Given the description of an element on the screen output the (x, y) to click on. 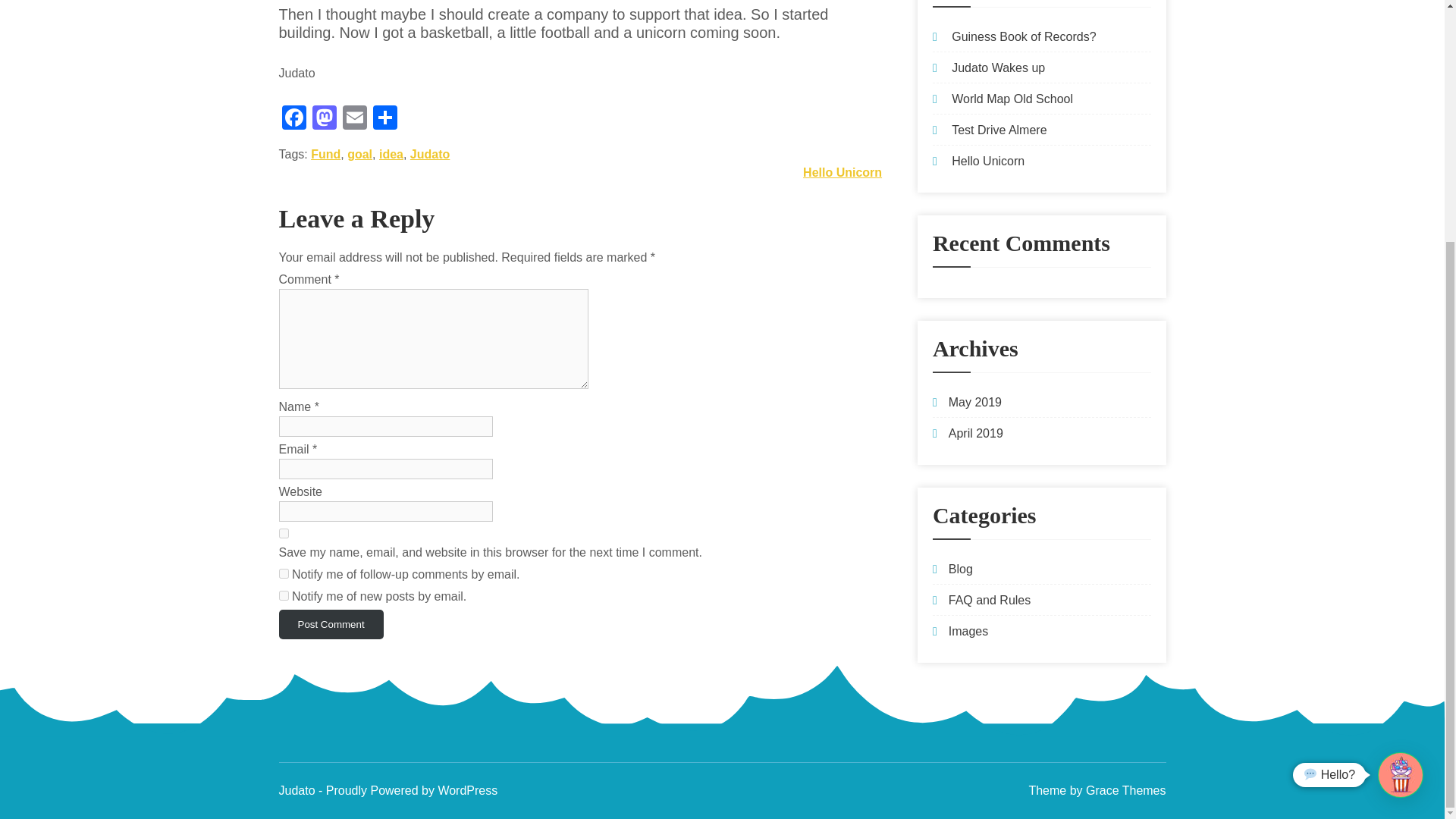
Test Drive Almere (999, 129)
Hello Unicorn (988, 160)
FAQ and Rules (989, 599)
Mastodon (323, 119)
Share (384, 119)
April 2019 (976, 432)
idea (390, 154)
subscribe (283, 573)
Fund (325, 154)
Judato Wakes up (998, 67)
World Map Old School (1012, 98)
Judato (429, 154)
Blog (960, 568)
May 2019 (975, 401)
Guiness Book of Records? (1024, 36)
